Given the description of an element on the screen output the (x, y) to click on. 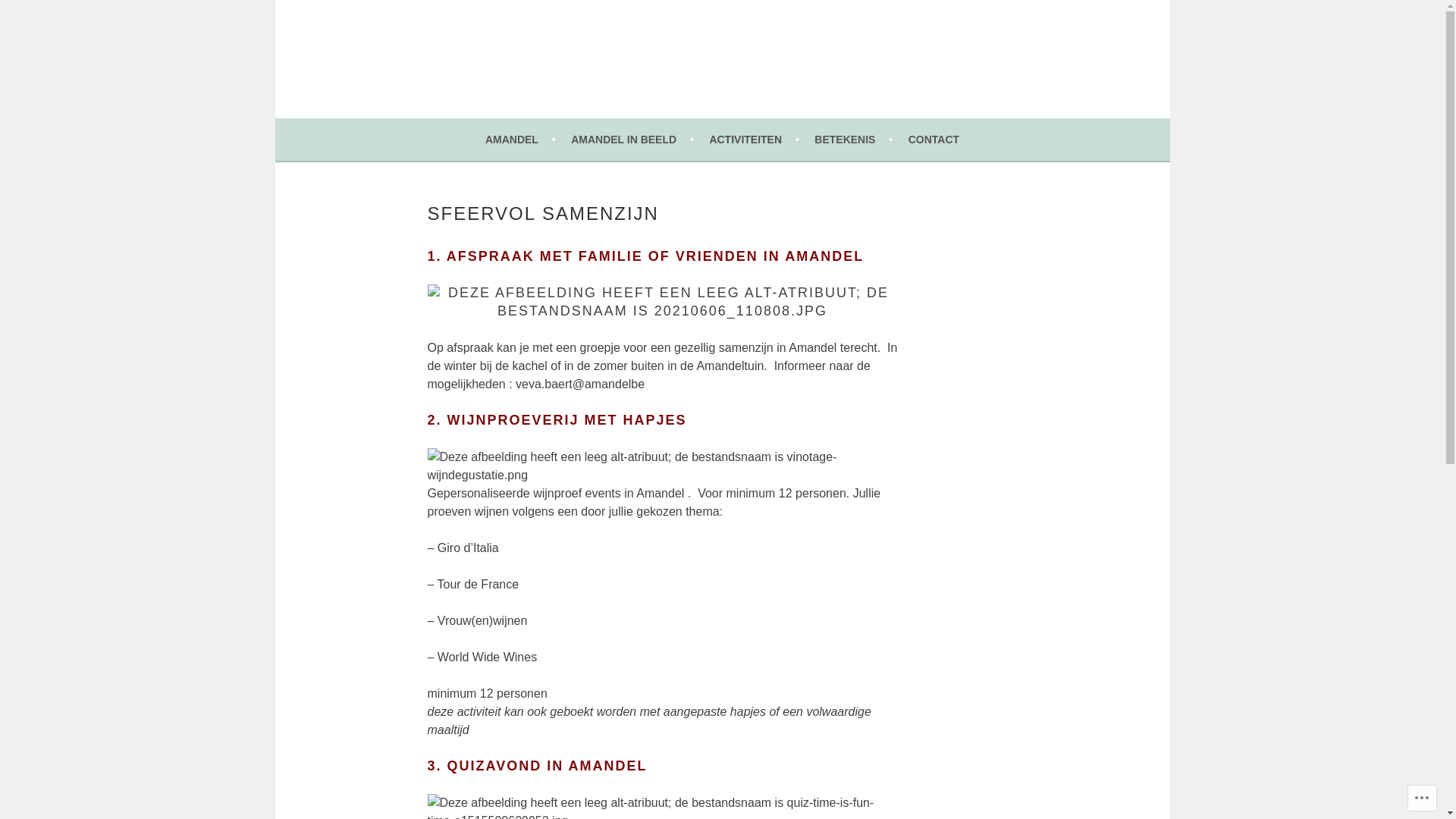
ACTIVITEITEN Element type: text (753, 139)
AMANDEL Element type: text (387, 90)
AMANDEL Element type: text (520, 139)
CONTACT Element type: text (933, 139)
BETEKENIS Element type: text (853, 139)
AMANDEL IN BEELD Element type: text (632, 139)
